Given the description of an element on the screen output the (x, y) to click on. 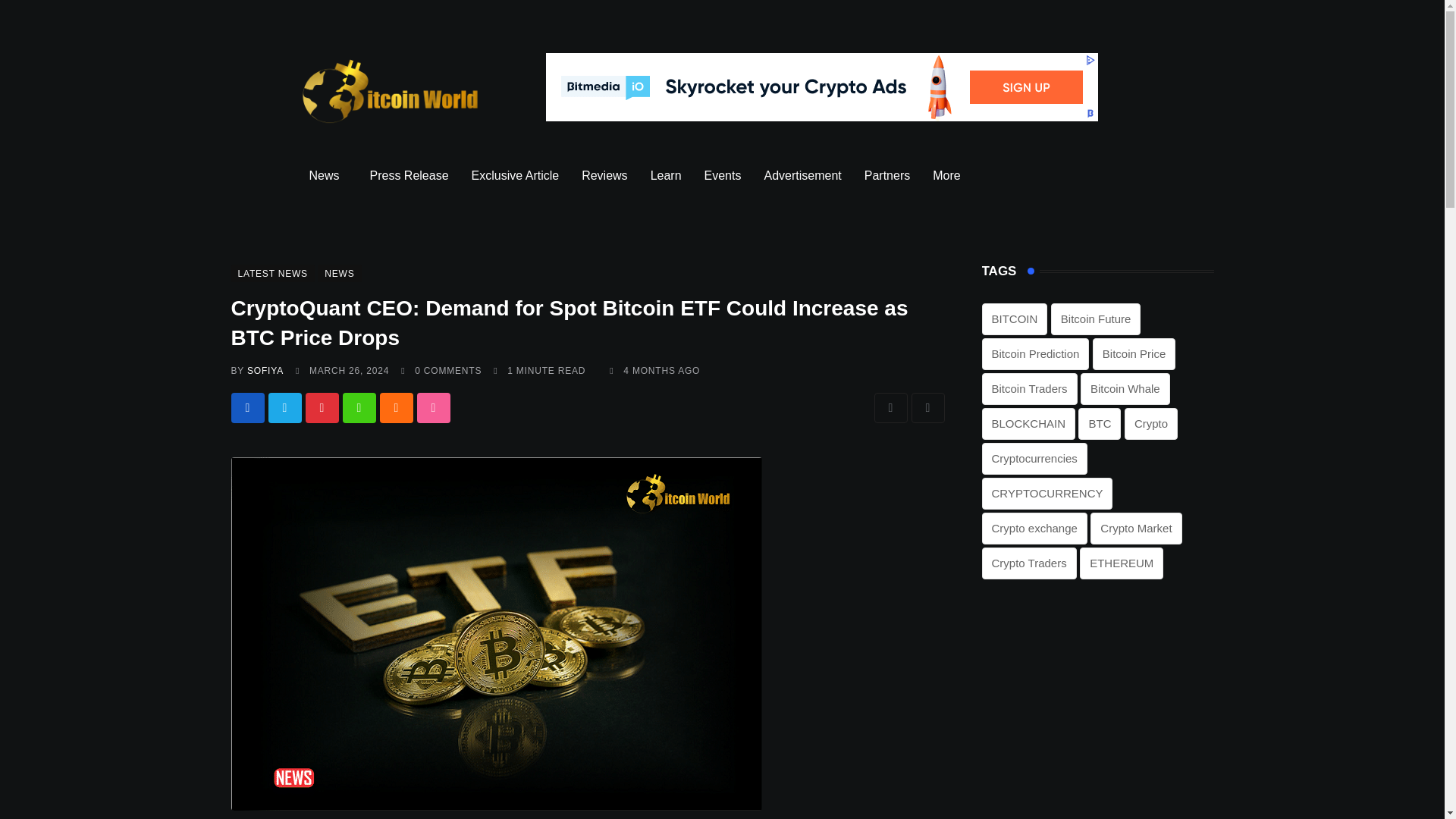
LATEST NEWS (272, 272)
Learn (666, 175)
Reviews (604, 175)
News (327, 175)
Advertisement (801, 175)
Posts by Sofiya (265, 370)
SOFIYA (265, 370)
More (949, 175)
Exclusive Article (515, 175)
NEWS (339, 272)
Events (722, 175)
Partners (887, 175)
Press Release (409, 175)
